Given the description of an element on the screen output the (x, y) to click on. 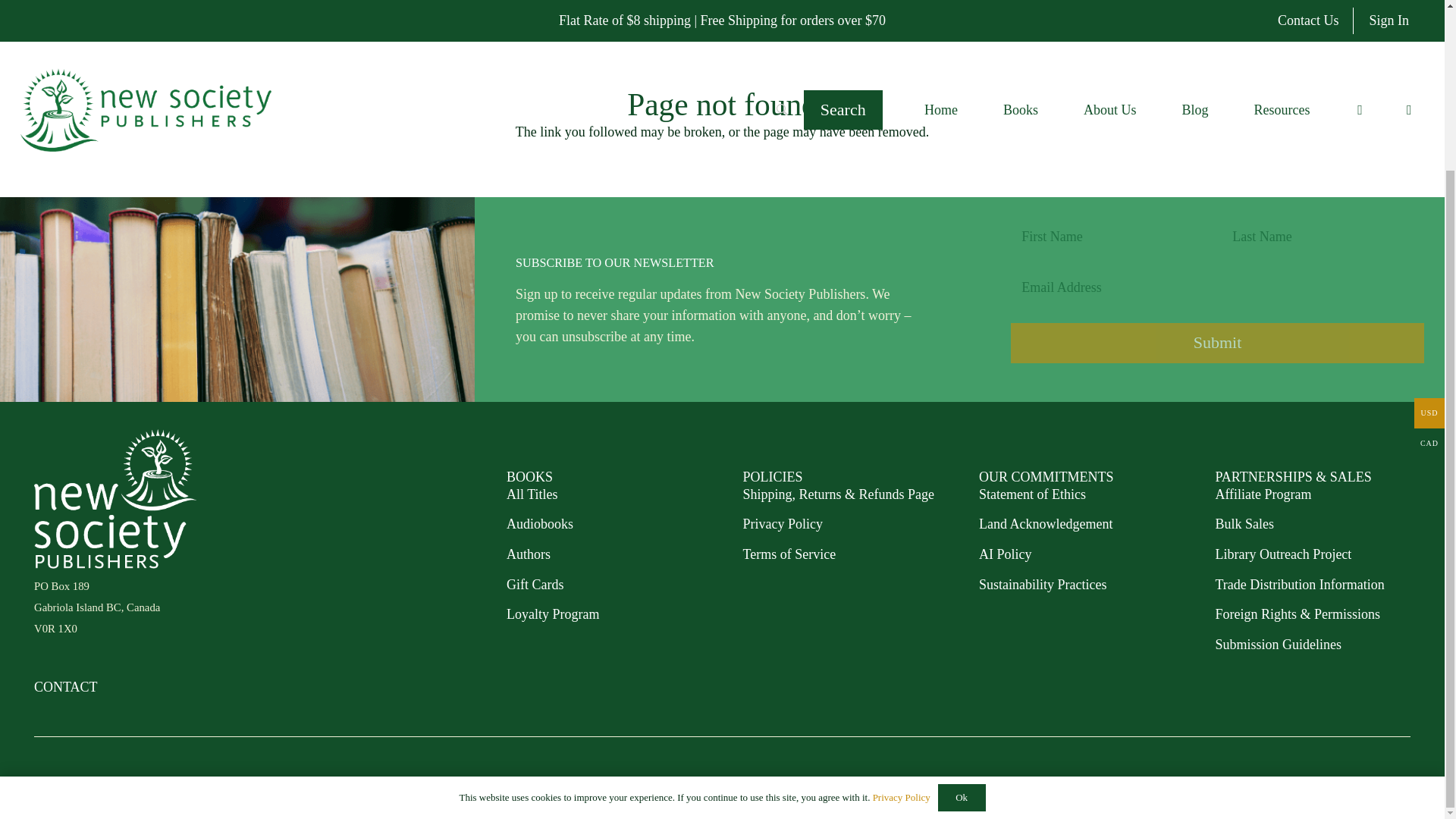
Twitter (1404, 783)
Submit (1216, 342)
